Given the description of an element on the screen output the (x, y) to click on. 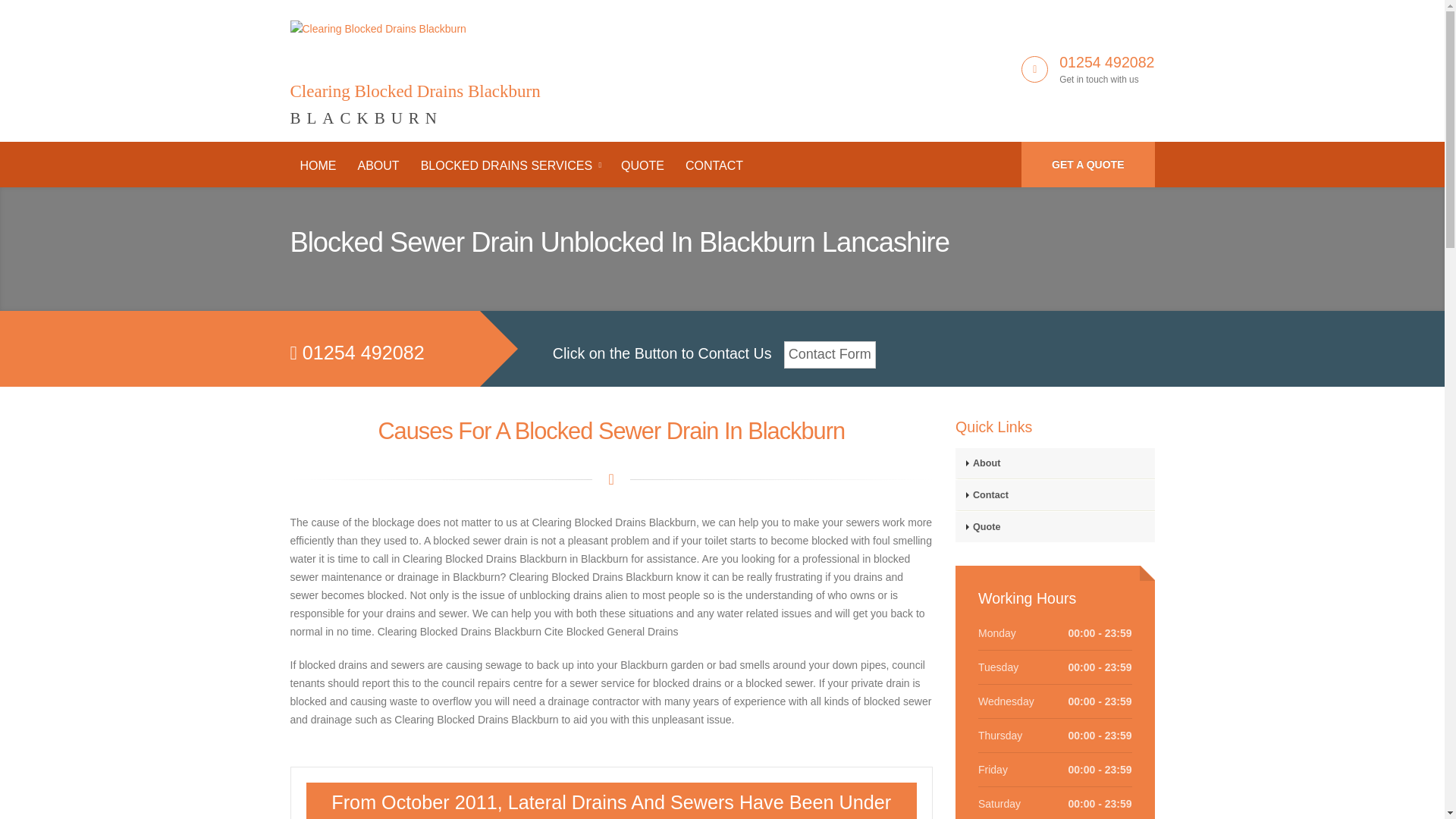
HOME (414, 65)
BLOCKED DRAINS SERVICES (317, 165)
Contact Form (510, 165)
Quote (830, 354)
01254 492082 (1054, 526)
GET A QUOTE (1106, 62)
CONTACT (1088, 164)
QUOTE (713, 165)
About (642, 165)
Contact (1054, 463)
ABOUT (1054, 495)
